Given the description of an element on the screen output the (x, y) to click on. 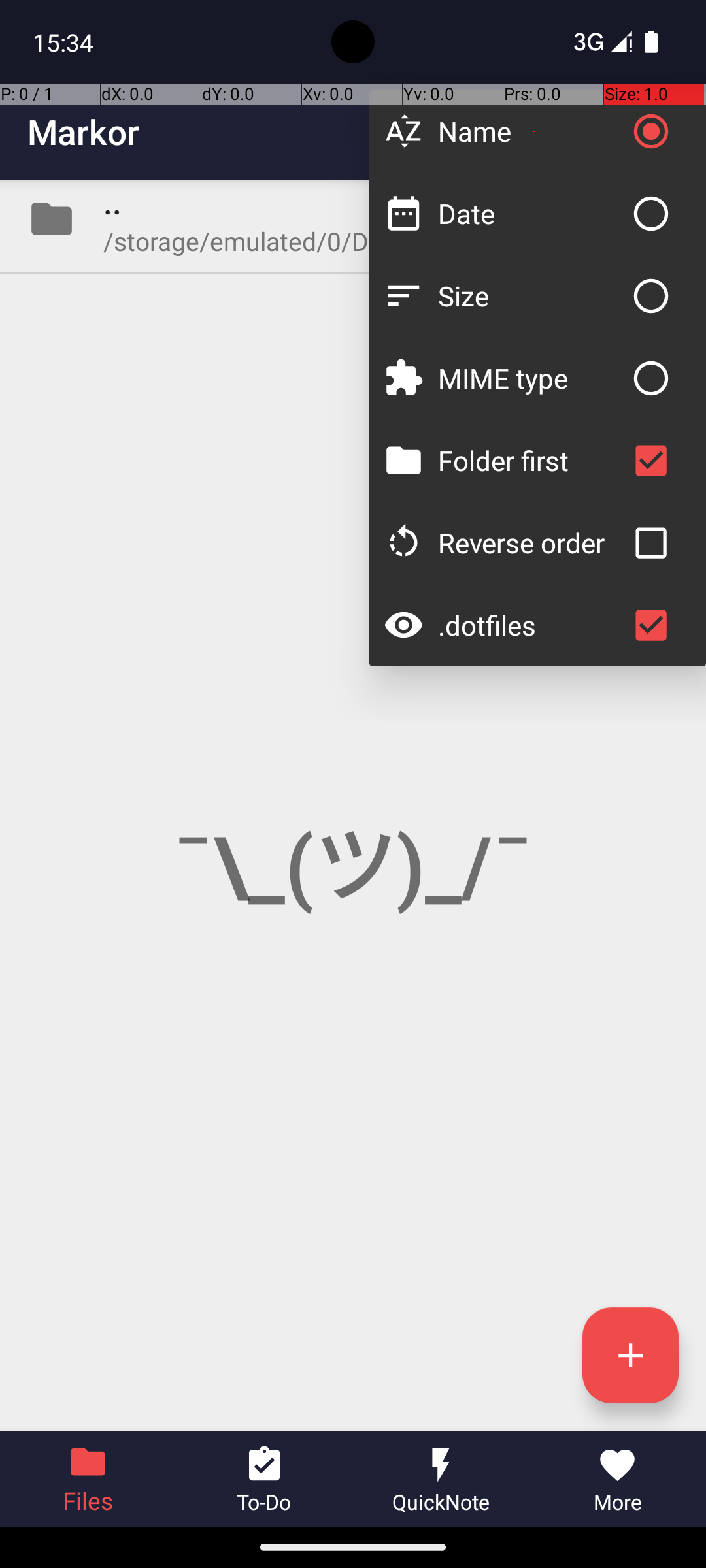
Size Element type: android.widget.TextView (530, 295)
MIME type Element type: android.widget.TextView (530, 377)
Folder first Element type: android.widget.TextView (530, 459)
Reverse order Element type: android.widget.TextView (530, 542)
.dotfiles Element type: android.widget.TextView (530, 624)
